Given the description of an element on the screen output the (x, y) to click on. 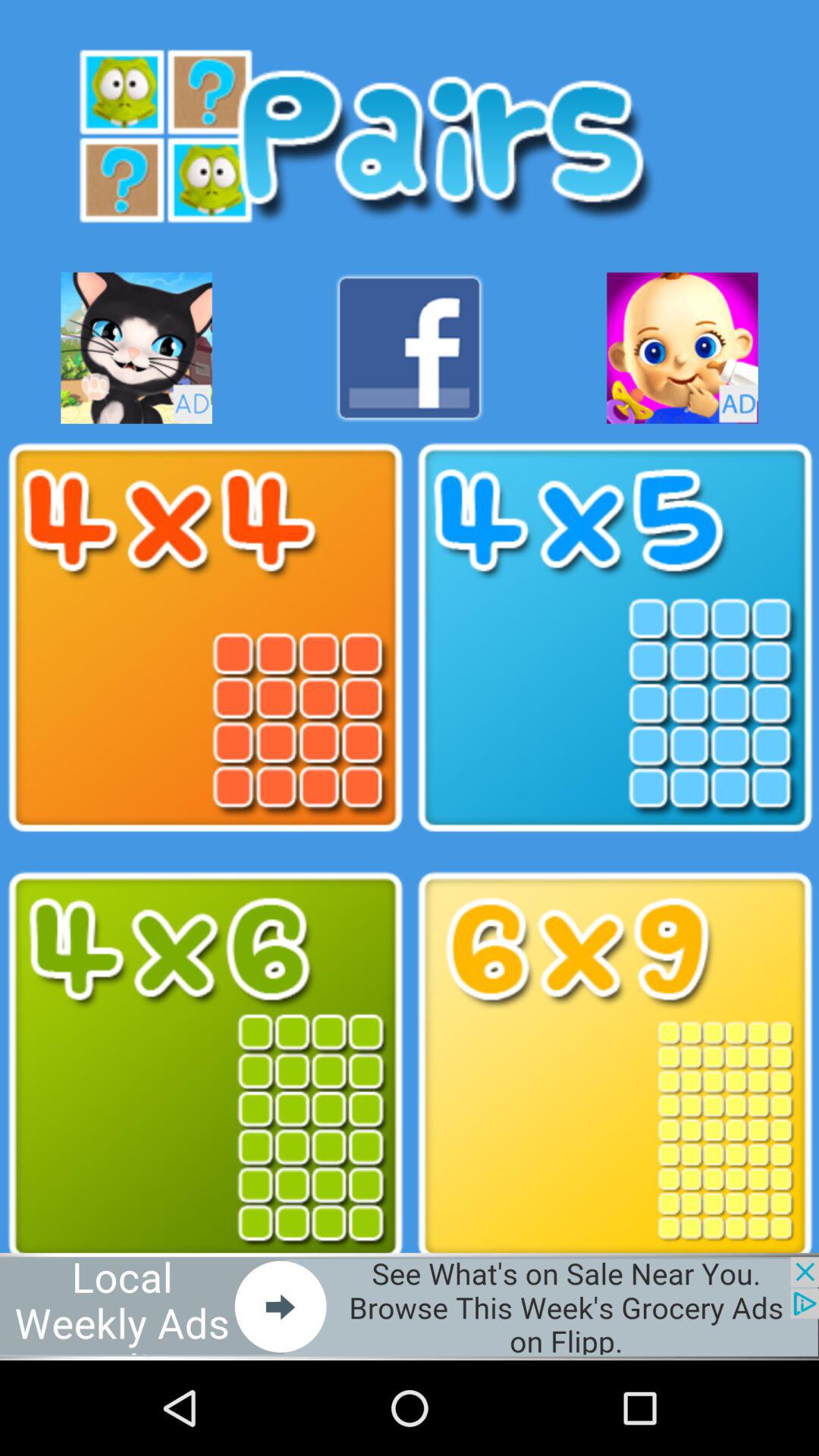
game (682, 347)
